Given the description of an element on the screen output the (x, y) to click on. 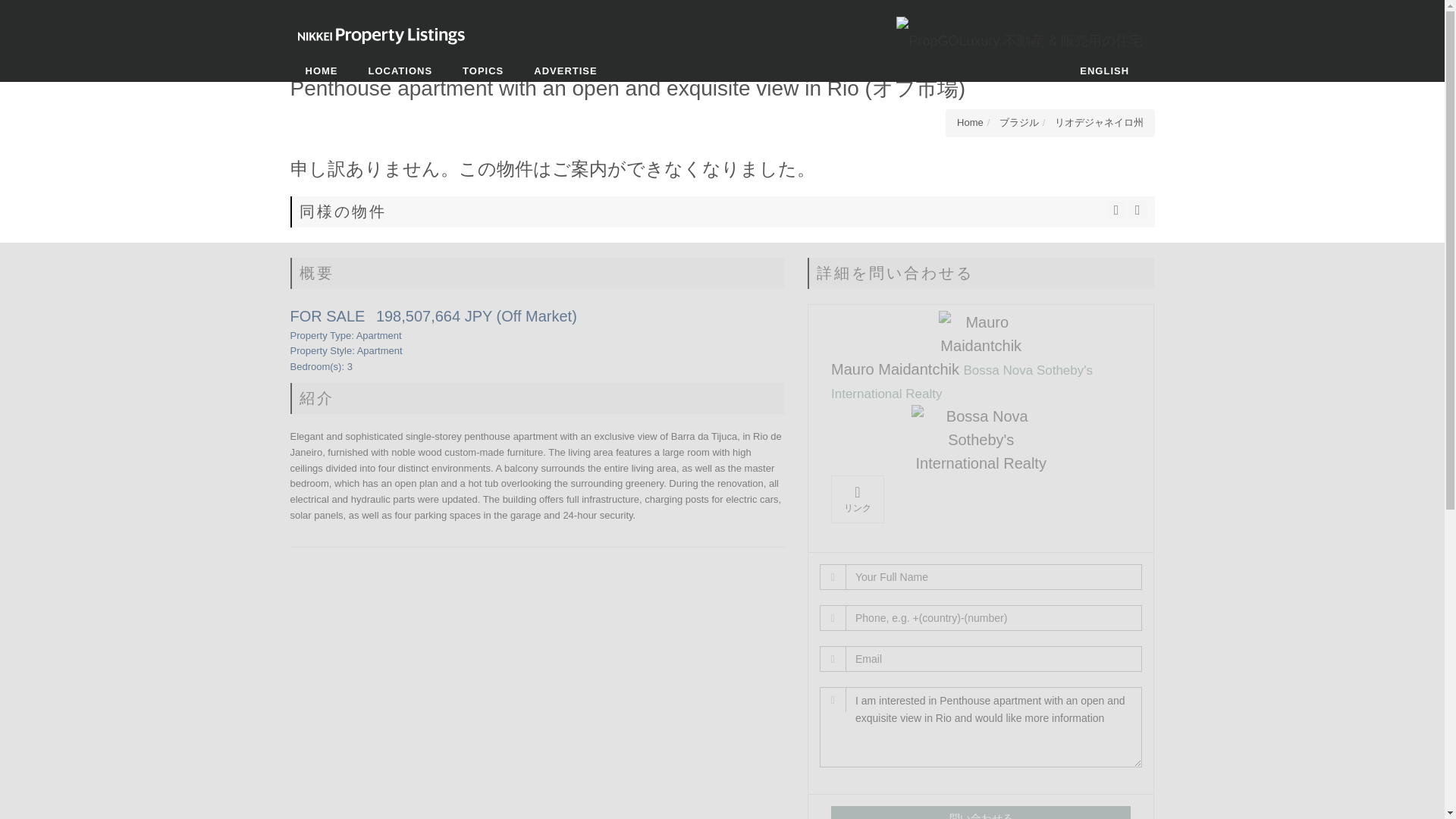
ADVERTISE (564, 71)
TOPICS (482, 71)
HOME (320, 71)
LOCATIONS (400, 71)
